Given the description of an element on the screen output the (x, y) to click on. 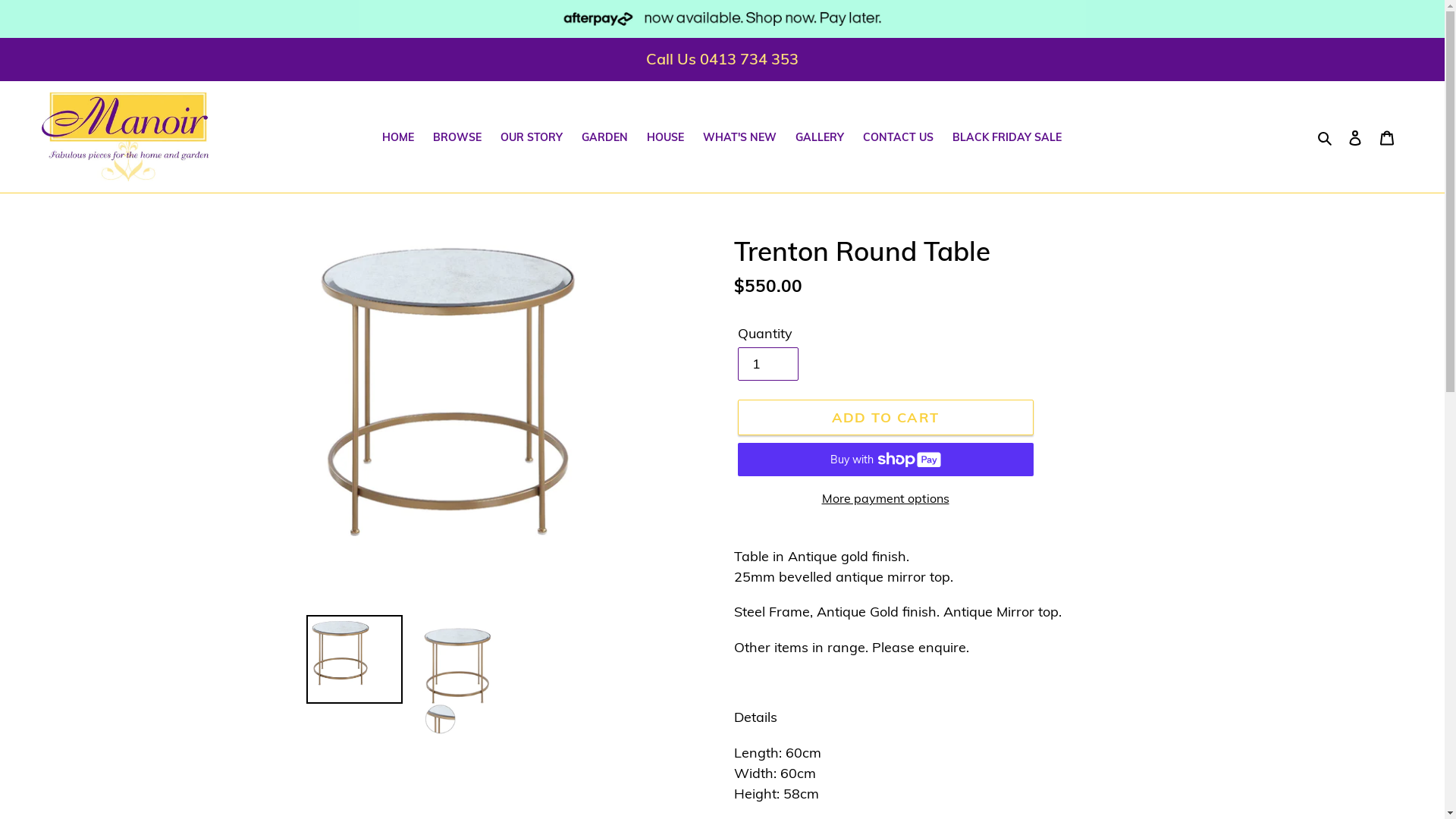
Log in Element type: text (1355, 136)
Search Element type: text (1325, 136)
CONTACT US Element type: text (898, 137)
GARDEN Element type: text (604, 137)
BLACK FRIDAY SALE Element type: text (1006, 137)
More payment options Element type: text (884, 498)
GALLERY Element type: text (819, 137)
HOUSE Element type: text (665, 137)
ADD TO CART Element type: text (884, 416)
Cart Element type: text (1386, 136)
OUR STORY Element type: text (531, 137)
HOME Element type: text (397, 137)
BROWSE Element type: text (457, 137)
WHAT'S NEW Element type: text (739, 137)
